Given the description of an element on the screen output the (x, y) to click on. 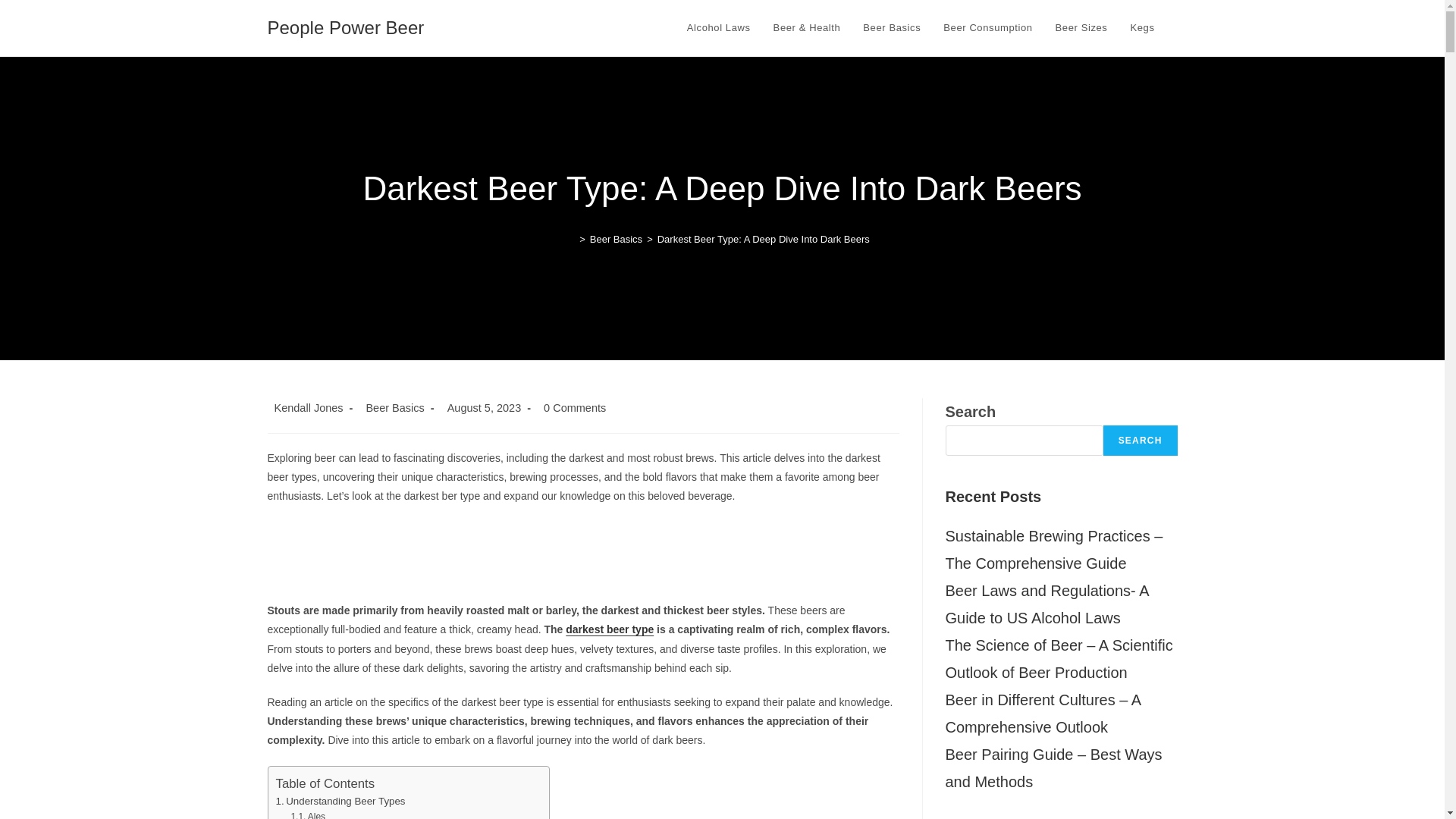
Darkest Beer Type: A Deep Dive Into Dark Beers (763, 238)
Posts by Kendall Jones (309, 408)
Kendall Jones (309, 408)
Understanding Beer Types (341, 801)
Beer Basics (891, 28)
Beer Consumption (987, 28)
Alcohol Laws (718, 28)
Ales (306, 814)
Ales (306, 814)
darkest beer type (609, 629)
